Given the description of an element on the screen output the (x, y) to click on. 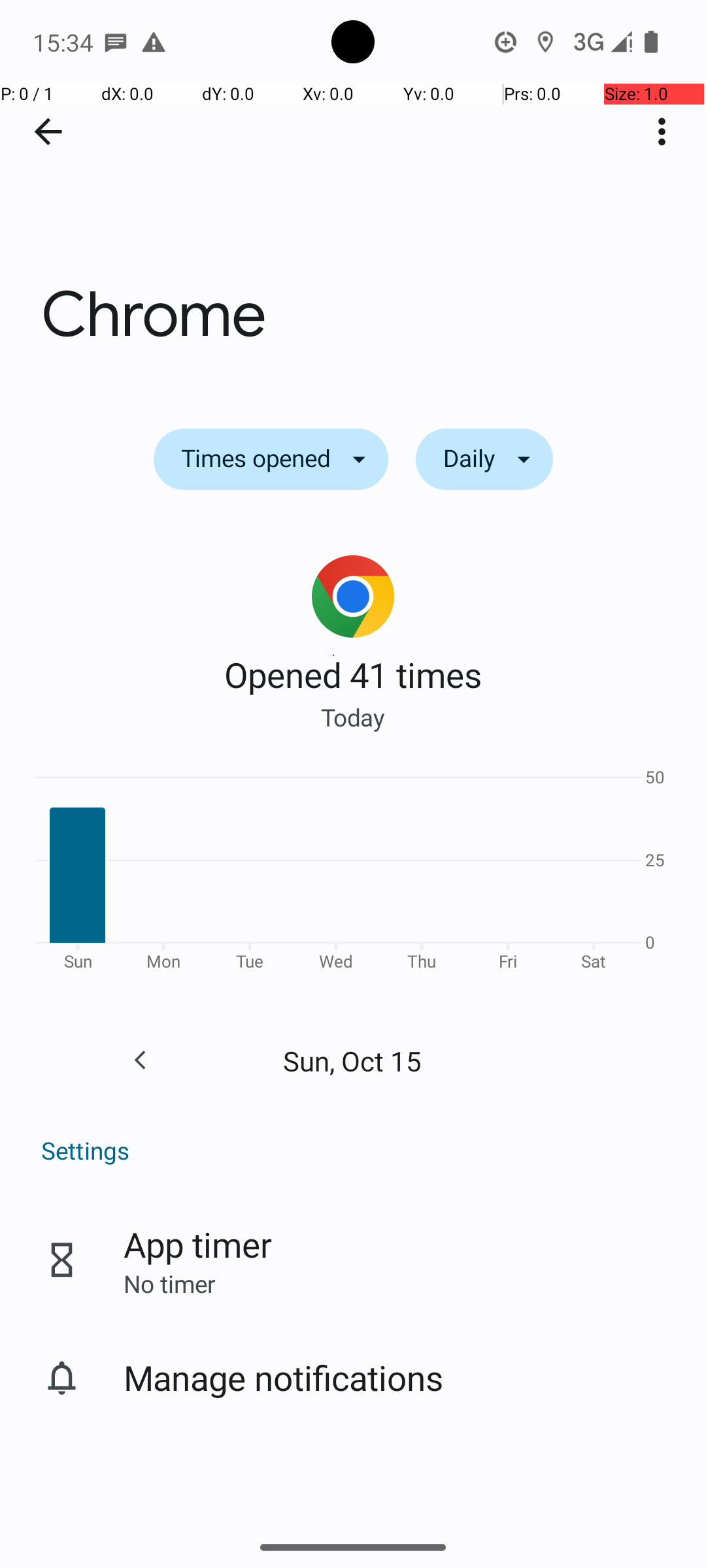
Times opened Element type: android.widget.Spinner (270, 459)
Daily Element type: android.widget.Spinner (484, 459)
Opened 41 times Element type: android.widget.TextView (353, 674)
Go to the previous day Element type: android.widget.Button (139, 1060)
Bar Chart. Showing App usage data with 7 data points. Element type: android.view.ViewGroup (353, 873)
App timer Element type: android.widget.TextView (197, 1244)
No timer Element type: android.widget.TextView (169, 1283)
Manage notifications Element type: android.widget.TextView (283, 1377)
